Given the description of an element on the screen output the (x, y) to click on. 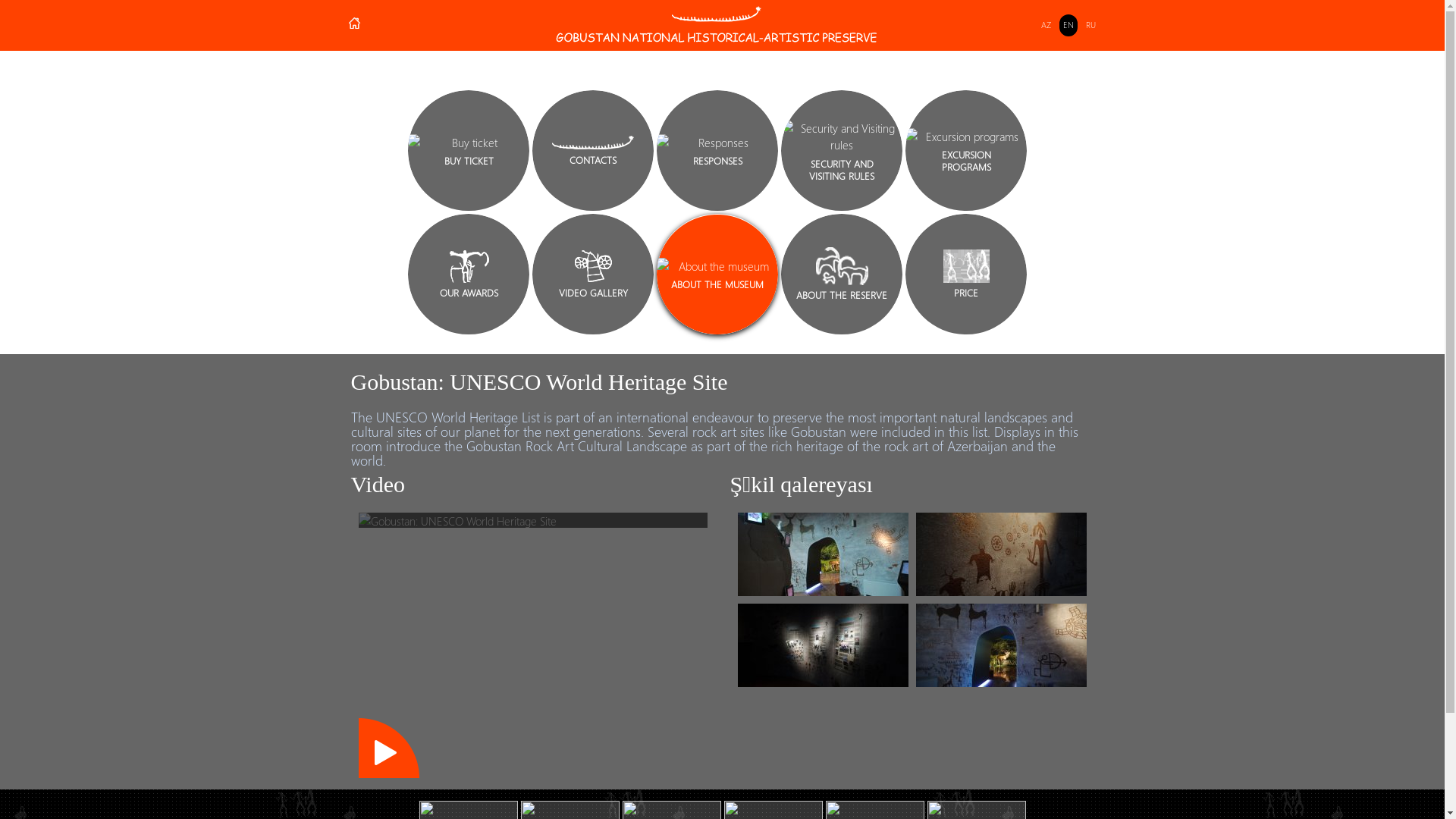
SECURITY AND VISITING RULES Element type: text (841, 150)
AZ Element type: text (1045, 25)
RU Element type: text (1089, 25)
RESPONSES Element type: text (717, 150)
PRICE Element type: text (965, 273)
ABOUT THE RESERVE Element type: text (841, 273)
ABOUT THE MUSEUM Element type: text (717, 273)
CONTACTS Element type: text (592, 150)
BUY TICKET Element type: text (468, 150)
EXCURSION PROGRAMS Element type: text (965, 150)
EN Element type: text (1067, 25)
VIDEO GALLERY Element type: text (592, 273)
OUR AWARDS Element type: text (468, 273)
